Given the description of an element on the screen output the (x, y) to click on. 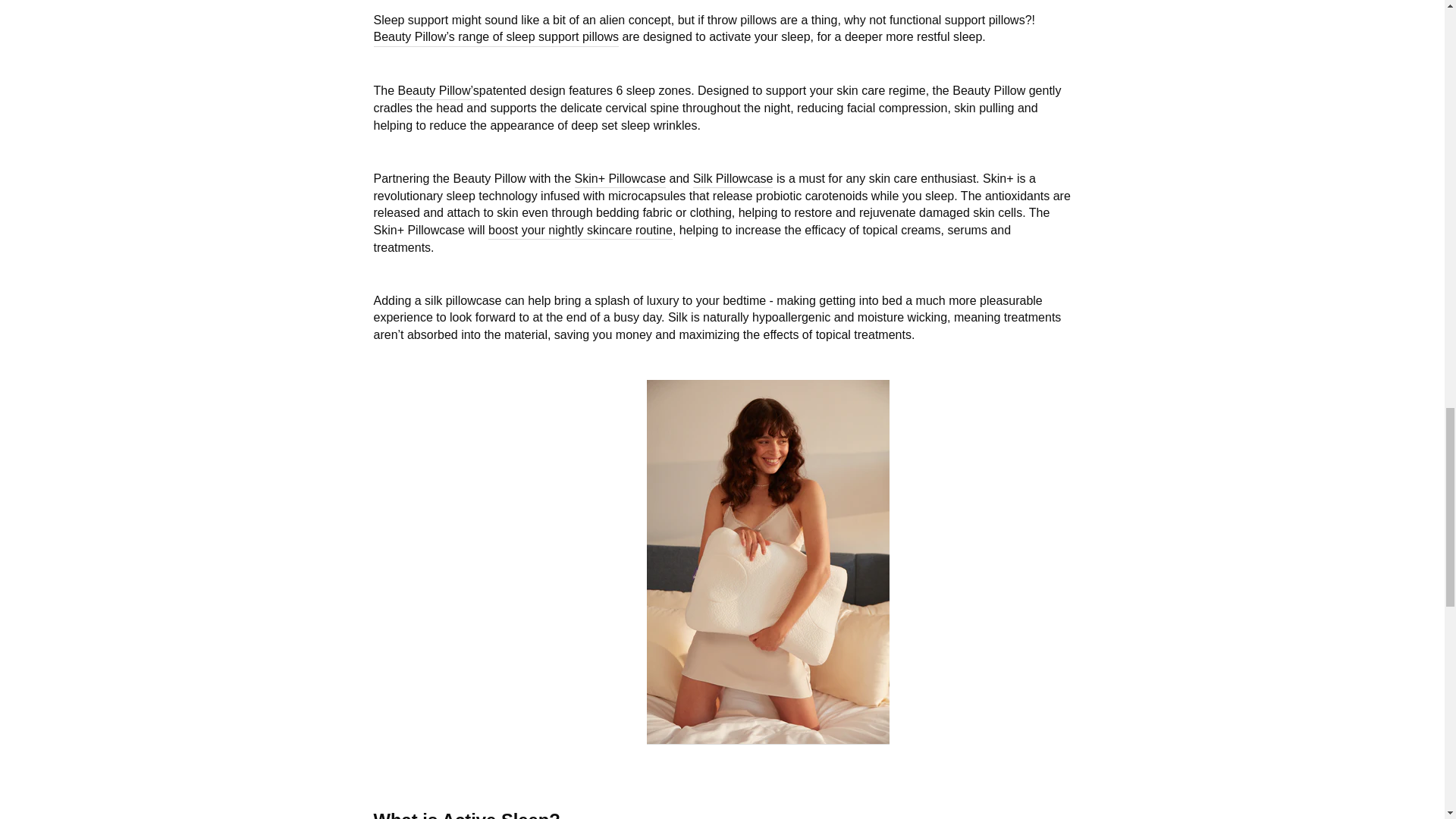
Anti Aging Skincare Routine from Beauty Pillow  (579, 230)
Silk Pillowcases by Beauty Pillow  (733, 179)
Beauty Pillow's Support Pillow Collection (494, 36)
Shop Beauty Pillow  (438, 90)
